Given the description of an element on the screen output the (x, y) to click on. 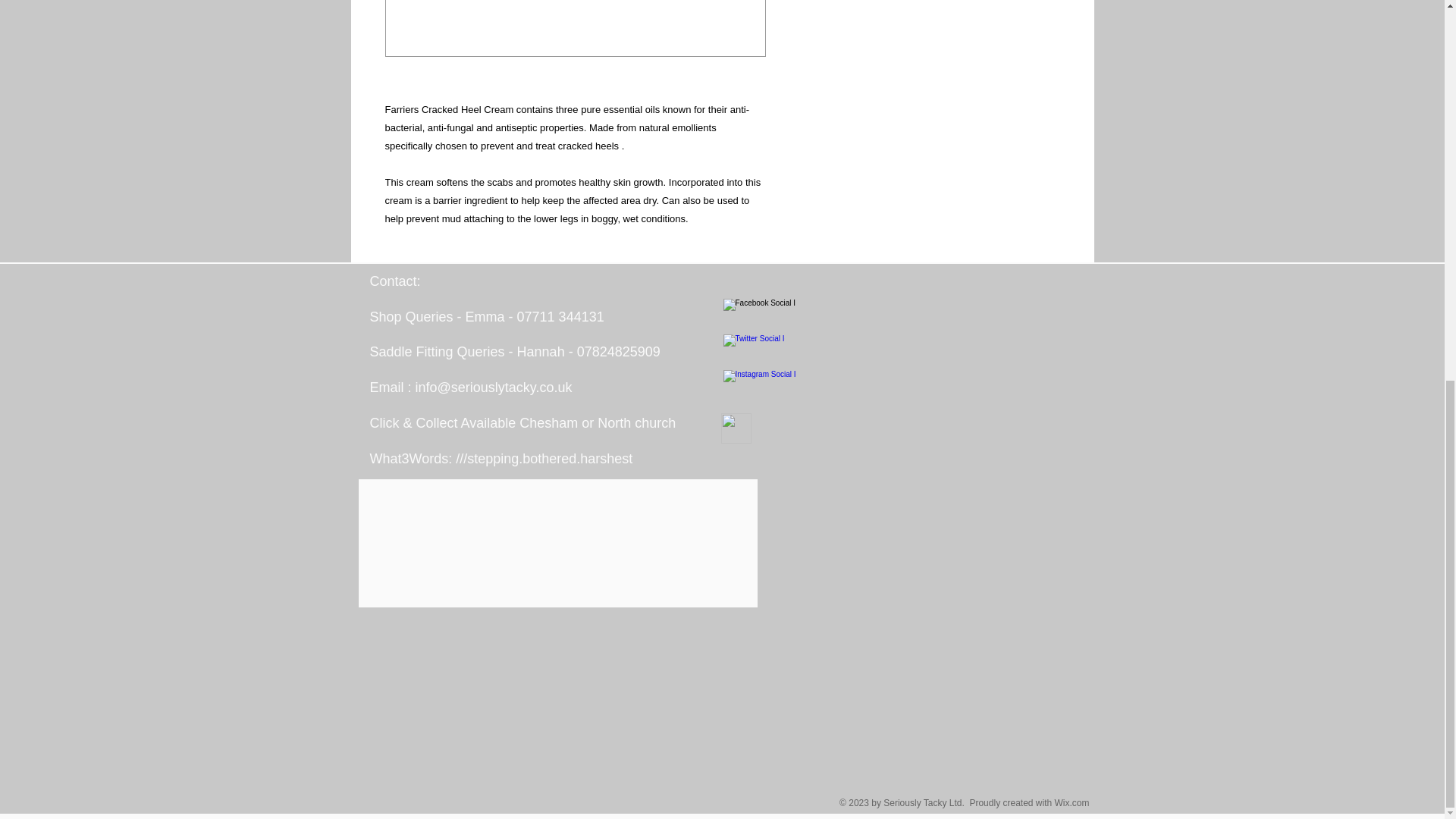
Wix.com (1071, 802)
